Given the description of an element on the screen output the (x, y) to click on. 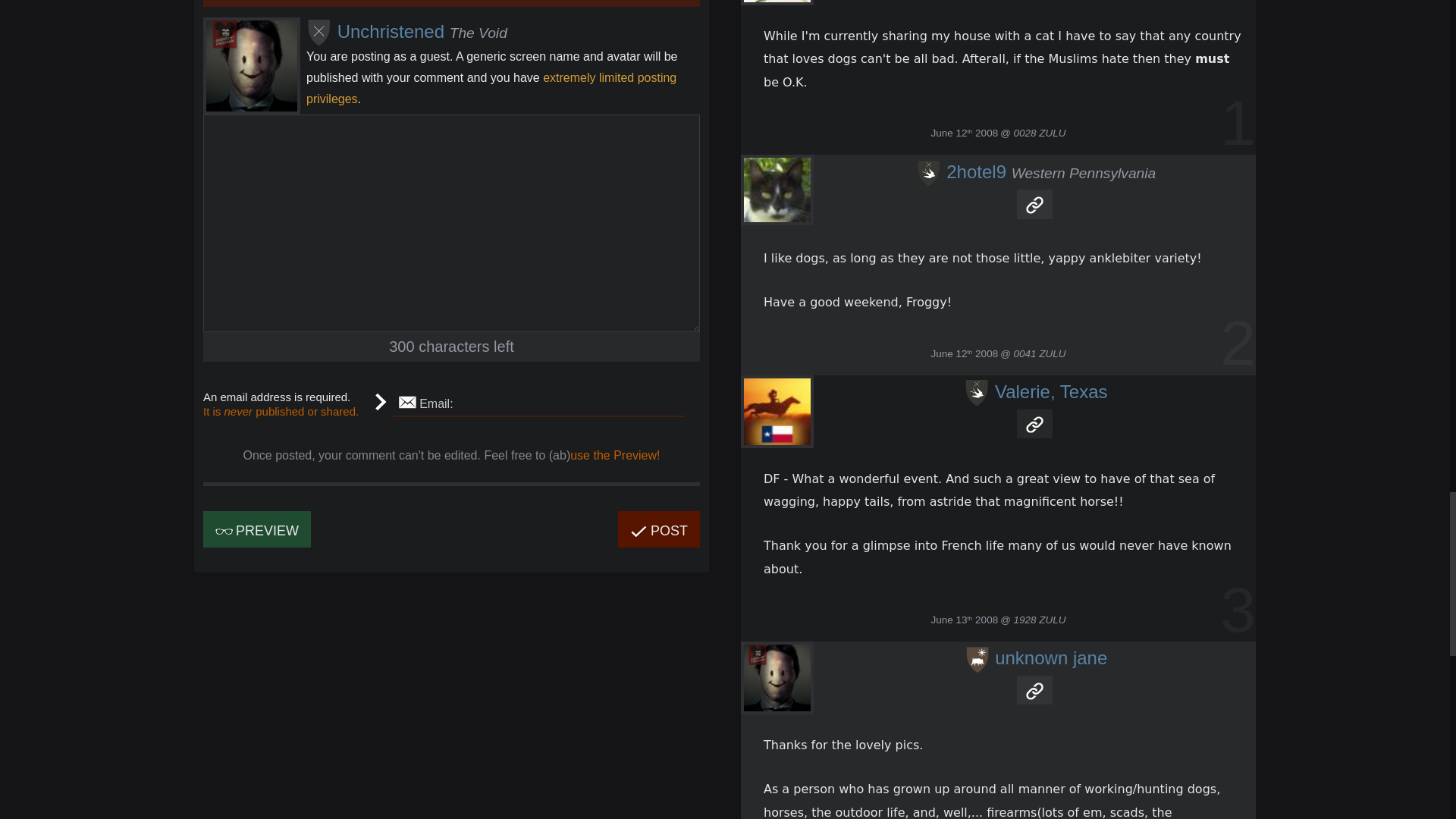
Permanent link to this comment (1034, 203)
PREVIEW (257, 529)
extremely limited posting privileges (491, 88)
POST (658, 529)
